Given the description of an element on the screen output the (x, y) to click on. 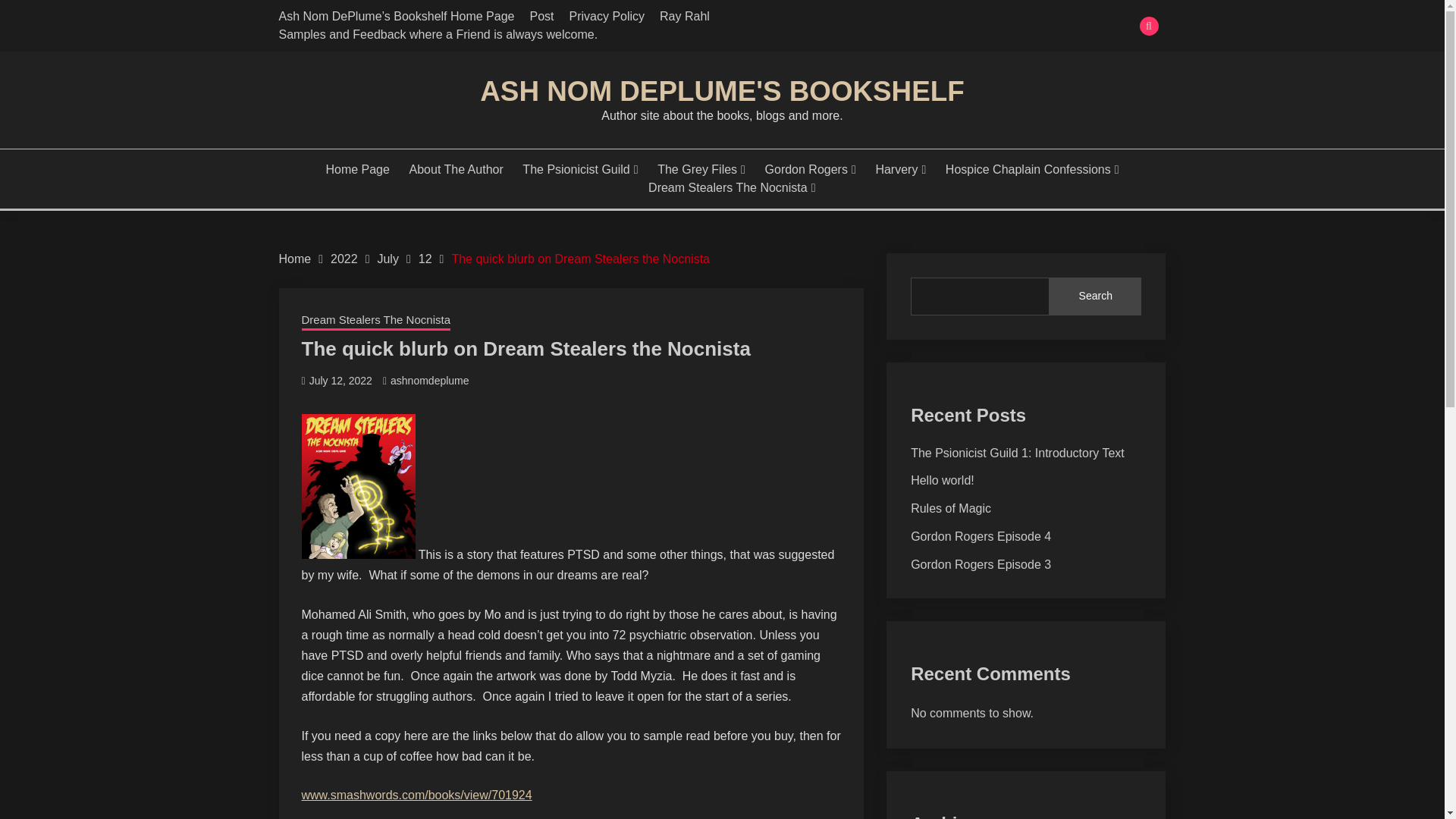
Hospice Chaplain Confessions (1031, 169)
Home (295, 258)
About The Author (456, 169)
Search (832, 18)
The Grey Files (701, 169)
Post (541, 15)
Ray Rahl (684, 15)
Privacy Policy (607, 15)
Harvery (900, 169)
ASH NOM DEPLUME'S BOOKSHELF (721, 91)
Dream Stealers The Nocnista (731, 188)
Samples and Feedback where a Friend is always welcome. (438, 33)
2022 (344, 258)
The Psionicist Guild (579, 169)
Home Page (357, 169)
